Given the description of an element on the screen output the (x, y) to click on. 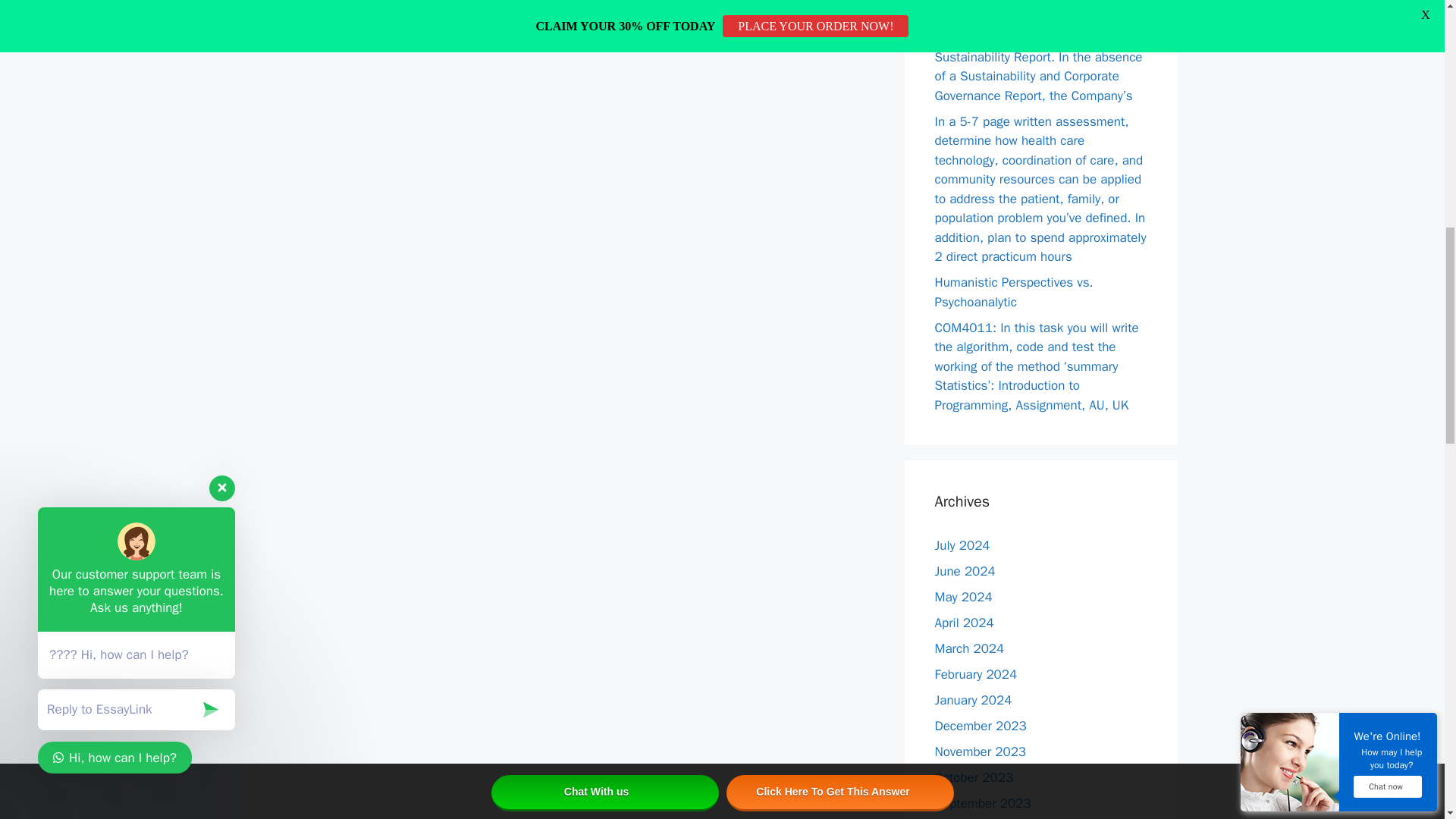
July 2024 (962, 545)
April 2024 (963, 622)
March 2024 (969, 648)
May 2024 (962, 596)
February 2024 (975, 674)
December 2023 (980, 725)
October 2023 (973, 777)
June 2024 (964, 571)
Humanistic Perspectives vs. Psychoanalytic (1013, 292)
January 2024 (972, 700)
November 2023 (980, 751)
September 2023 (982, 803)
